Given the description of an element on the screen output the (x, y) to click on. 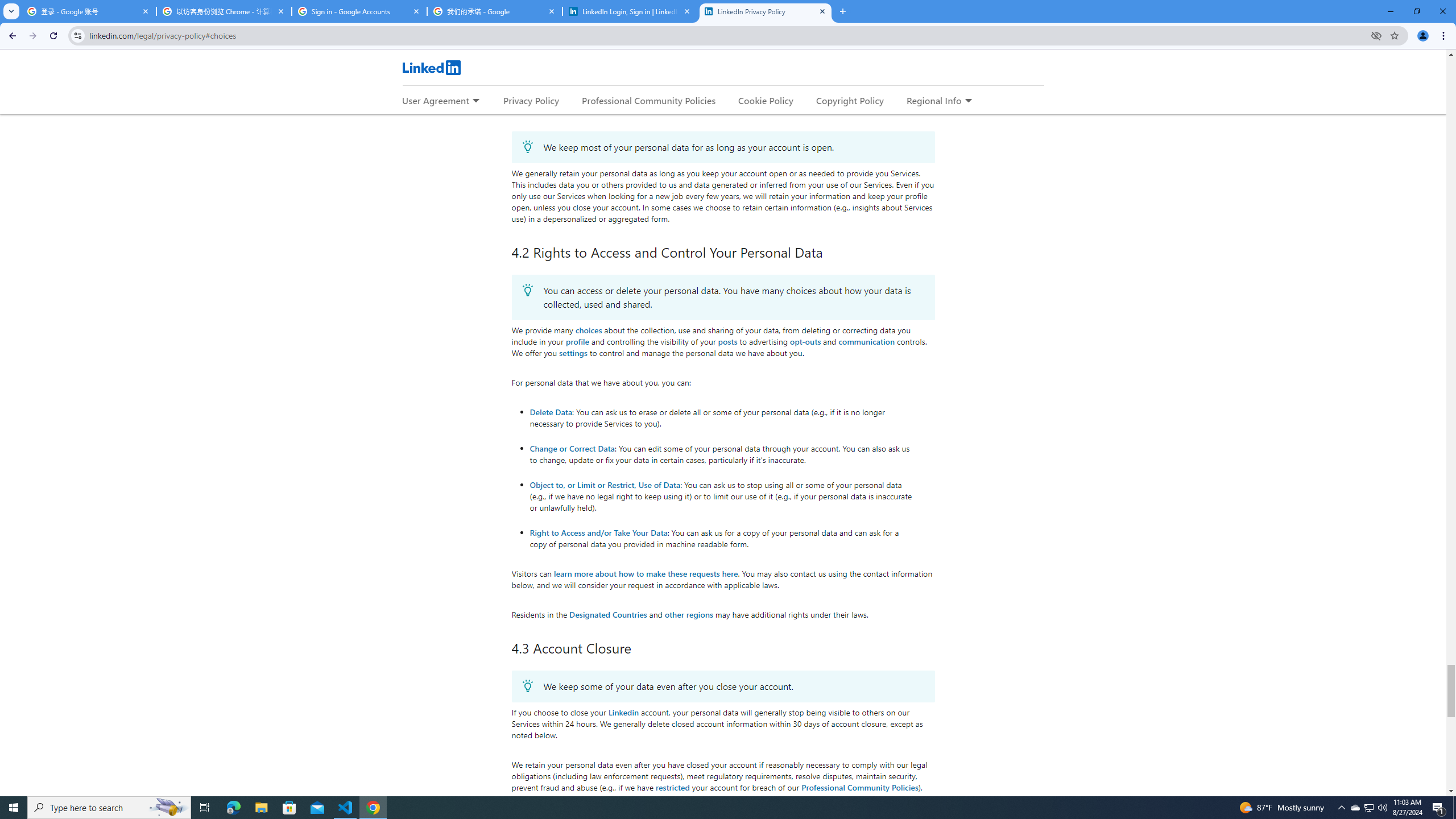
other regions (688, 613)
Right to Access and/or Take Your Data (598, 532)
LinkedIn Logo (430, 67)
LinkedIn Login, Sign in | LinkedIn (630, 11)
posts (727, 341)
LinkedIn Privacy Policy (765, 11)
Professional Community Policies (859, 786)
